Given the description of an element on the screen output the (x, y) to click on. 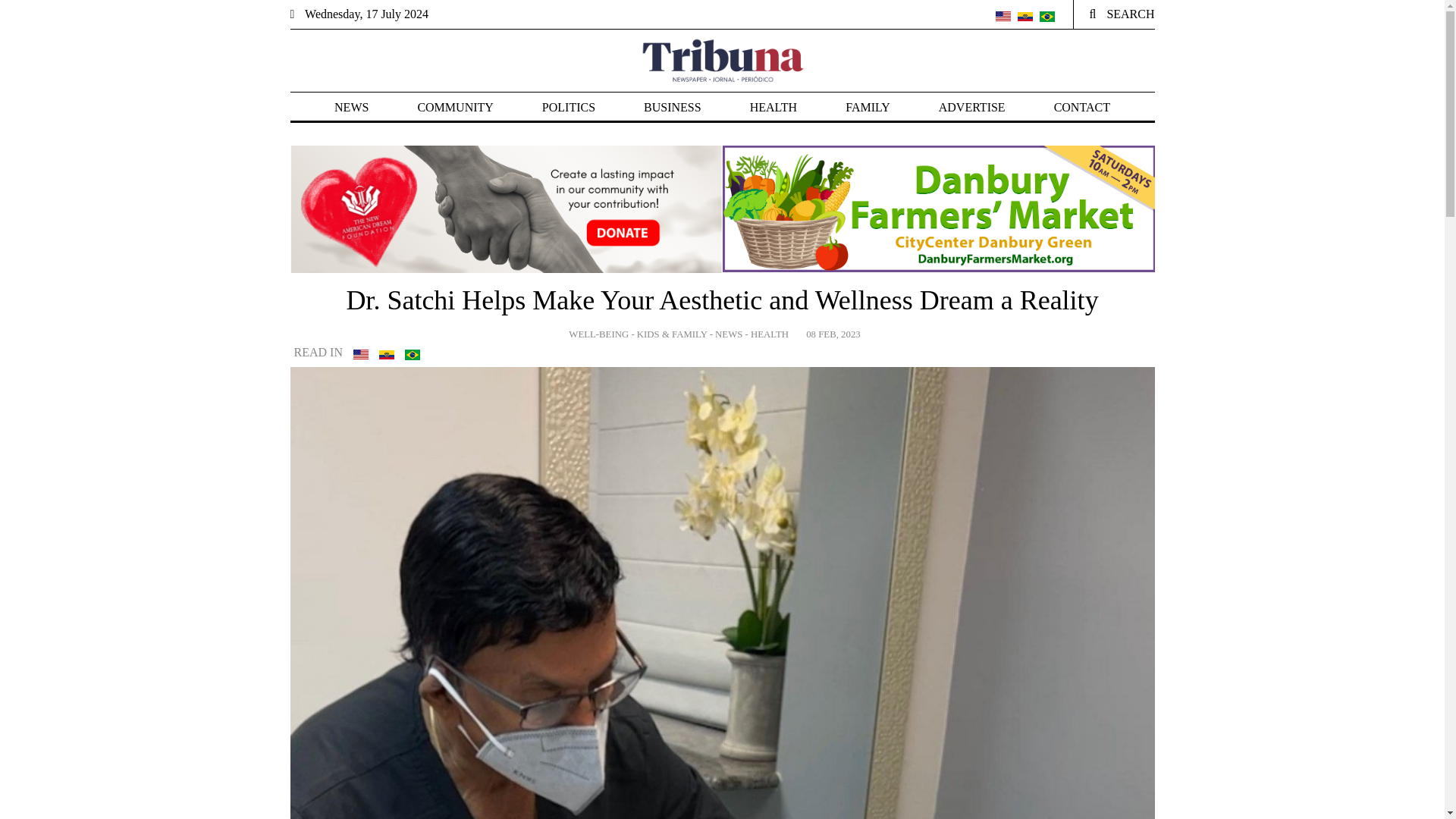
NEWS (351, 106)
ADVERTISE (972, 106)
WELL-BEING (599, 334)
BUSINESS (672, 106)
POLITICS (568, 106)
CONTACT (1081, 106)
English (1002, 16)
FAMILY (867, 106)
COMMUNITY (454, 106)
HEALTH (773, 106)
NEWS (729, 334)
HEALTH (770, 334)
English (360, 354)
